Given the description of an element on the screen output the (x, y) to click on. 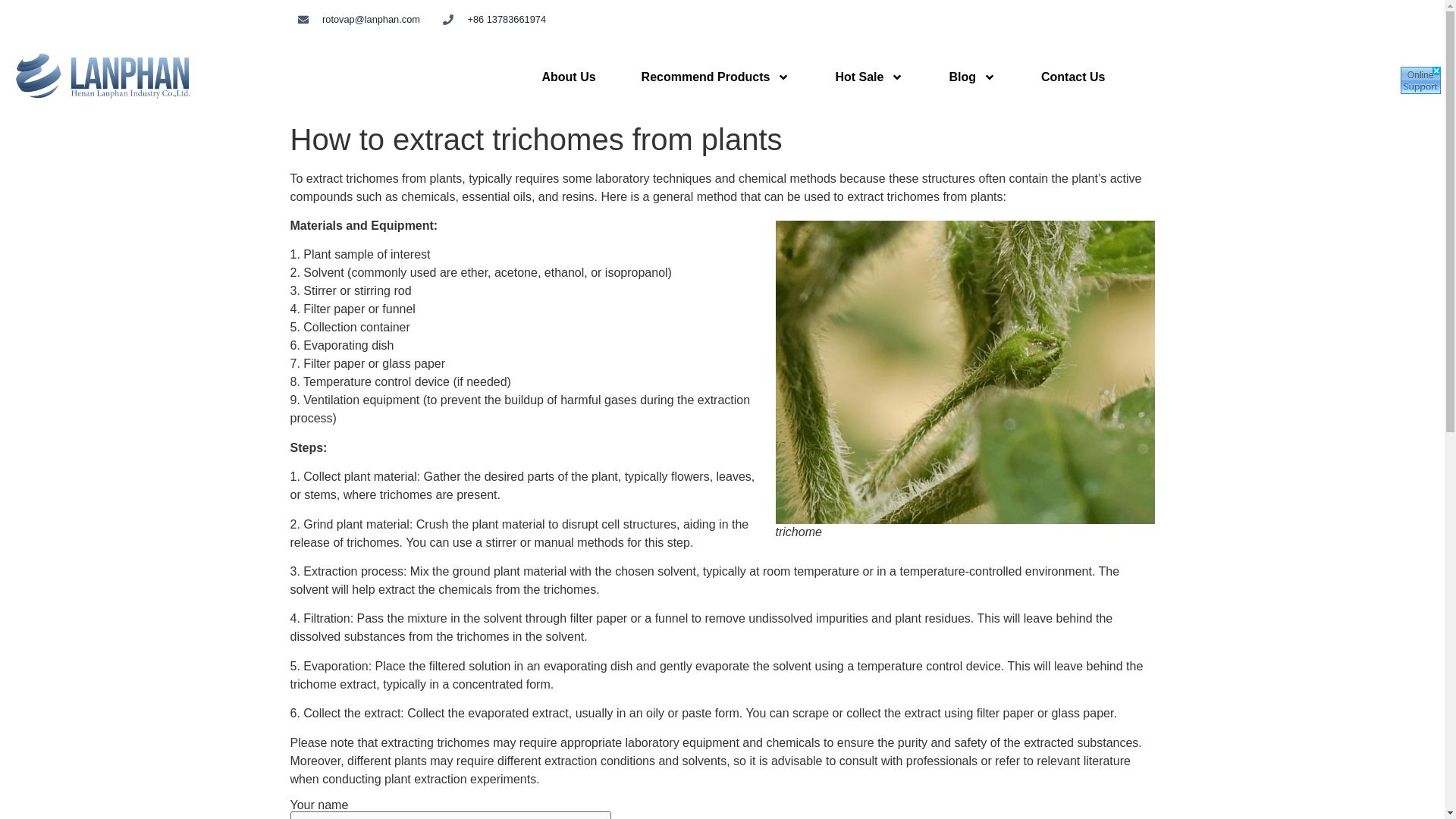
Blog (971, 77)
Recommend Products (715, 77)
Hot Sale (868, 77)
About Us (567, 77)
Contact Us (1072, 77)
